Given the description of an element on the screen output the (x, y) to click on. 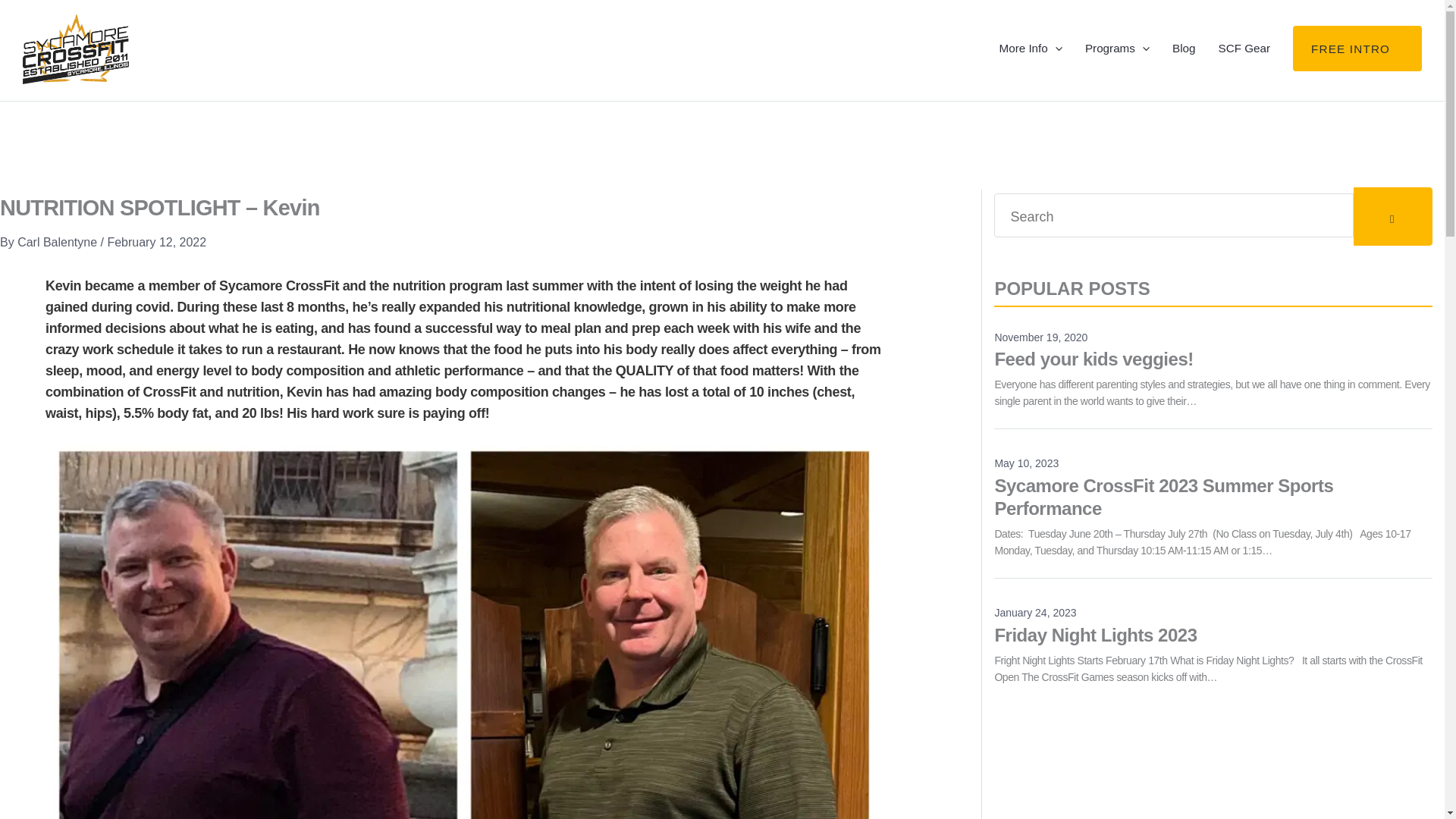
SCF Gear (1213, 672)
View all posts by Carl Balentyne (1244, 70)
Carl Balentyne (58, 285)
Blog (58, 285)
More Info (1183, 70)
Programs (1213, 396)
FREE INTRO (1030, 70)
